Given the description of an element on the screen output the (x, y) to click on. 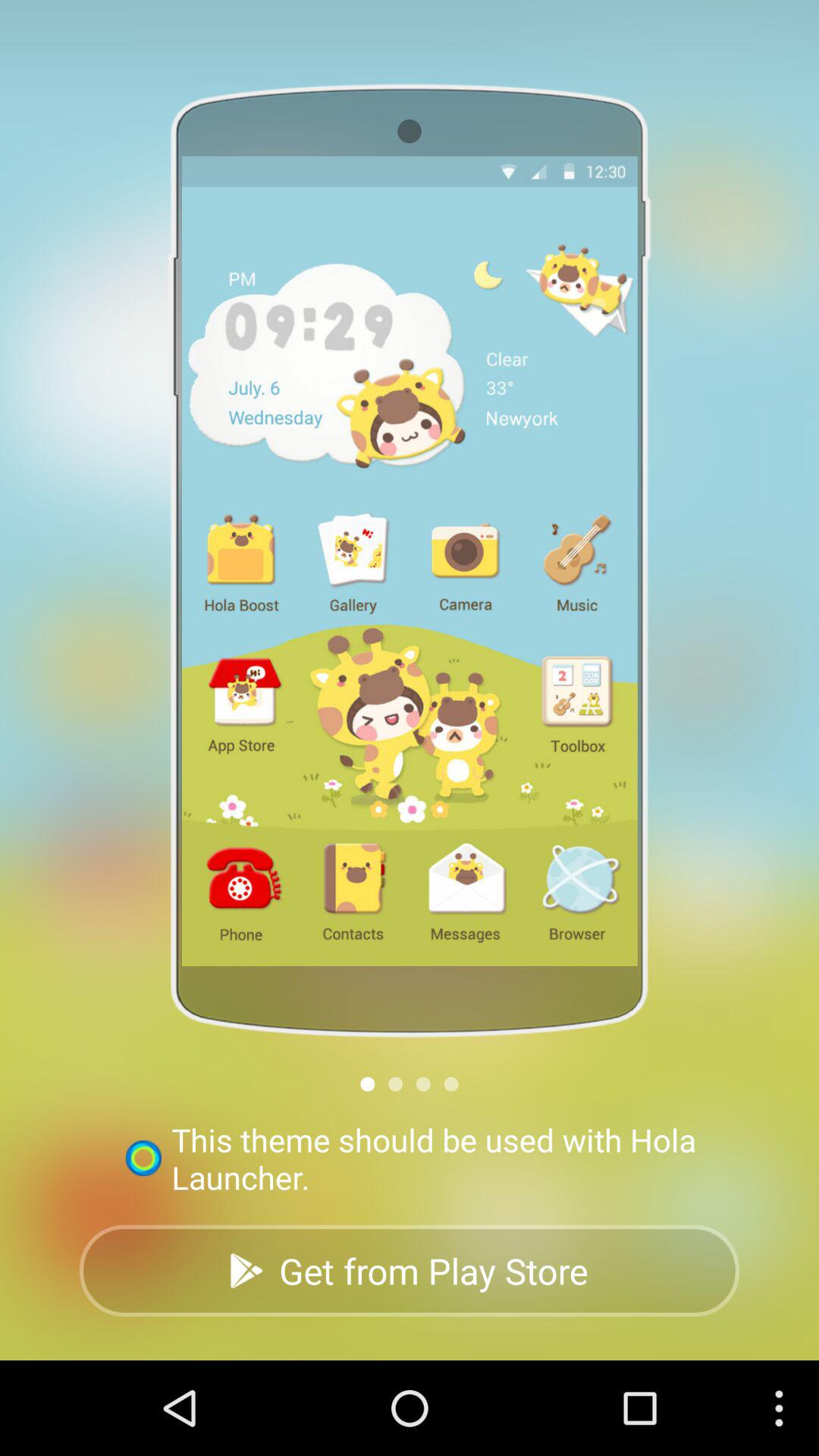
choose the icon above the this theme should (395, 1084)
